Given the description of an element on the screen output the (x, y) to click on. 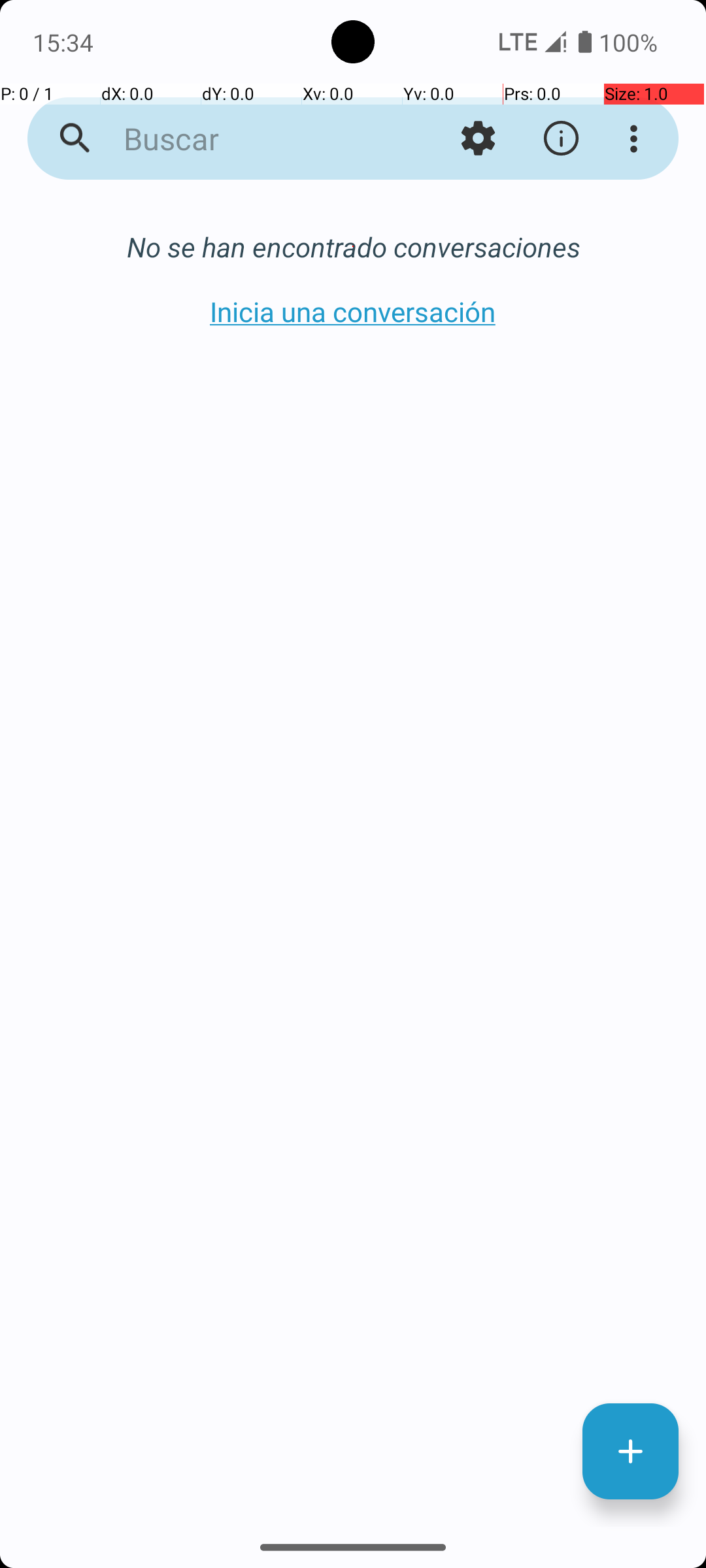
Acerca de Element type: android.widget.Button (560, 138)
No se han encontrado conversaciones Element type: android.widget.TextView (353, 246)
Inicia una conversación Element type: android.widget.TextView (352, 311)
